Given the description of an element on the screen output the (x, y) to click on. 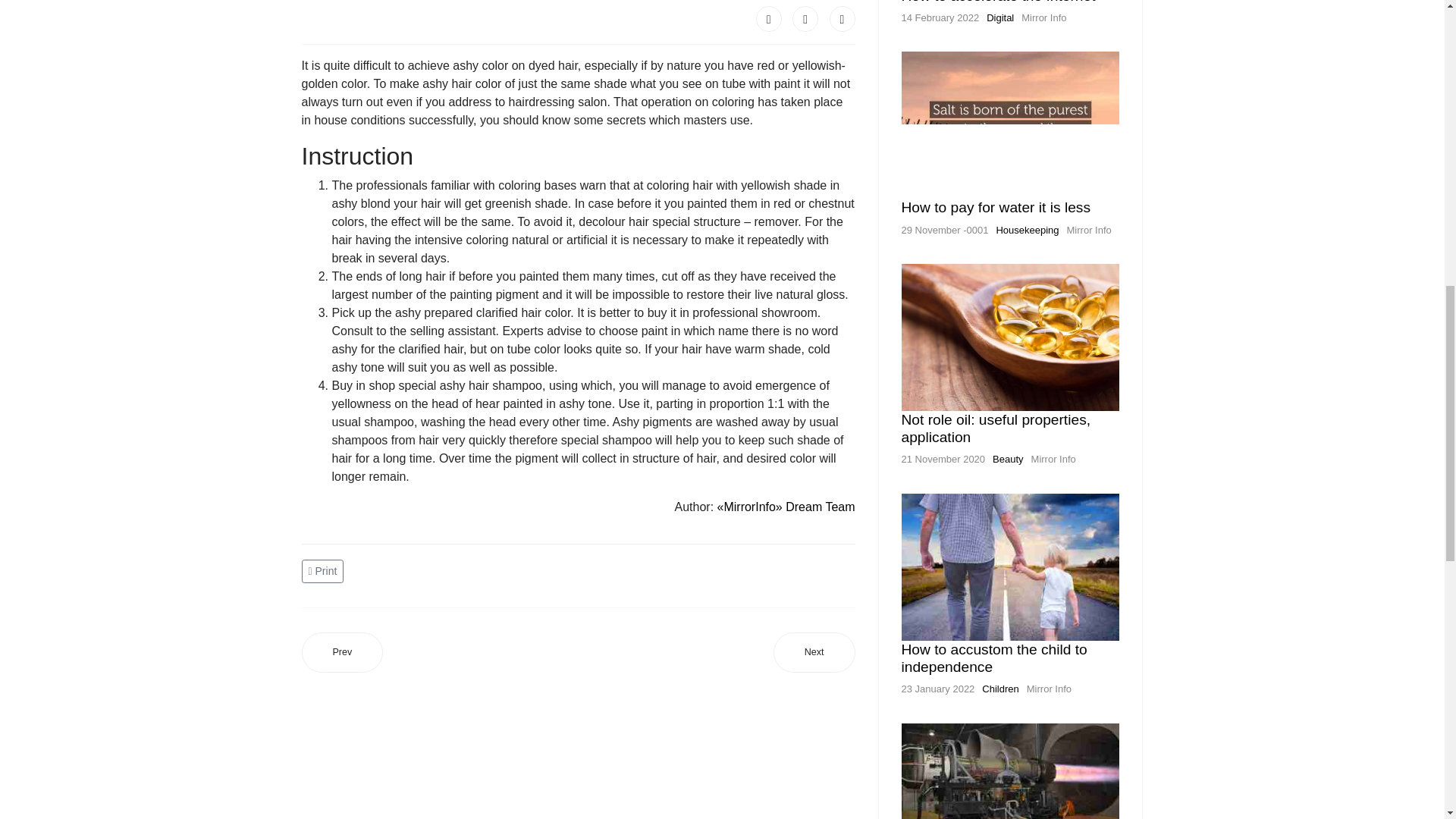
How to accelerate the Internet (997, 2)
Facebook (768, 18)
Next (814, 652)
Digital (1000, 17)
How to pay for water it is less (995, 207)
LinkedIn (842, 18)
Prev (342, 652)
Beauty (1007, 459)
Housekeeping (1026, 229)
Print (324, 570)
